Given the description of an element on the screen output the (x, y) to click on. 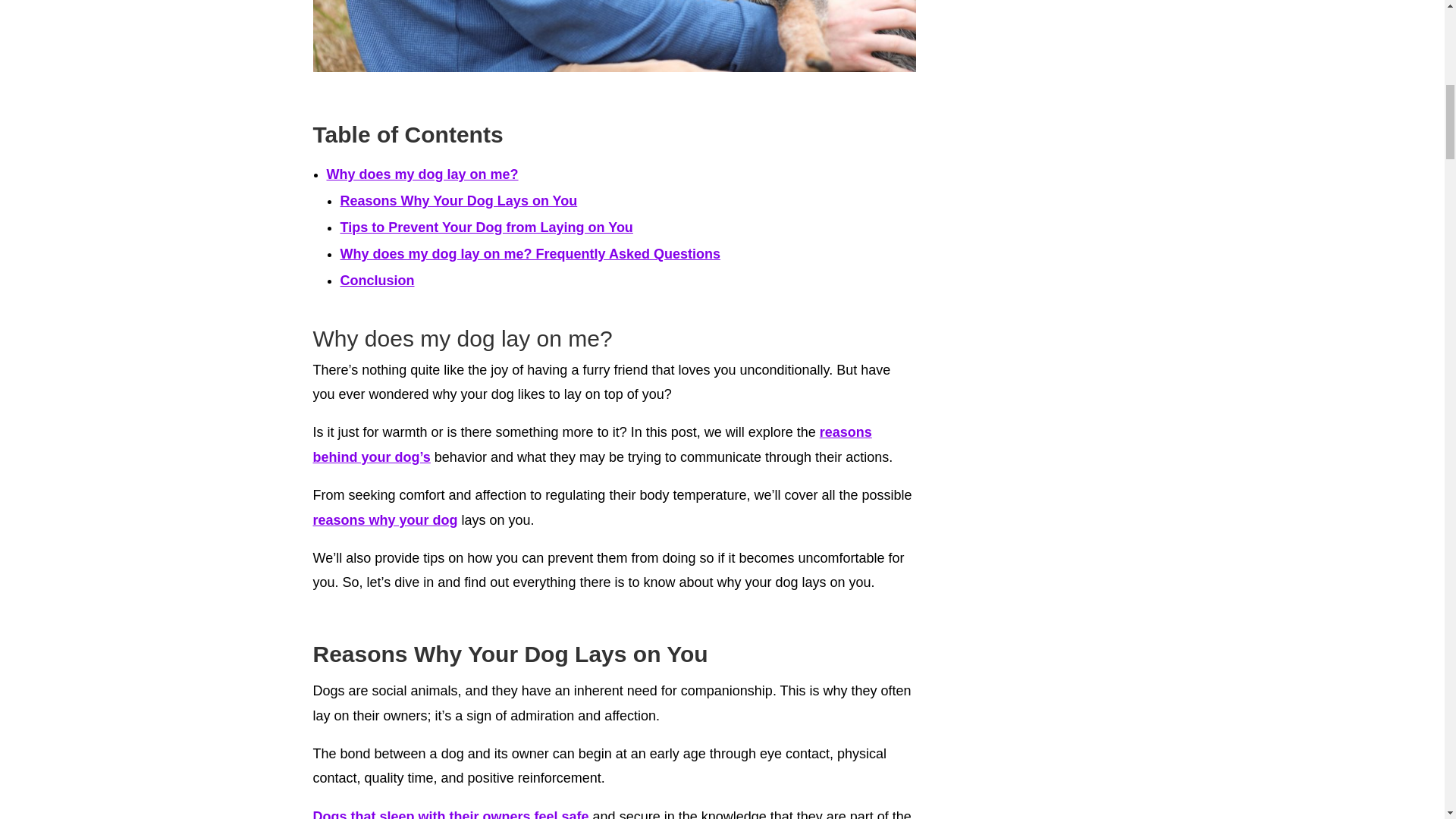
Tips to Prevent Your Dog from Laying on You (485, 227)
Why does my dog lay on me? (422, 174)
reasons why your dog (385, 519)
Conclusion (376, 280)
Why does my dog lay on me? Frequently Asked Questions (529, 253)
Dogs that sleep with their owners feel safe (450, 814)
Reasons Why Your Dog Lays on You (457, 200)
